Given the description of an element on the screen output the (x, y) to click on. 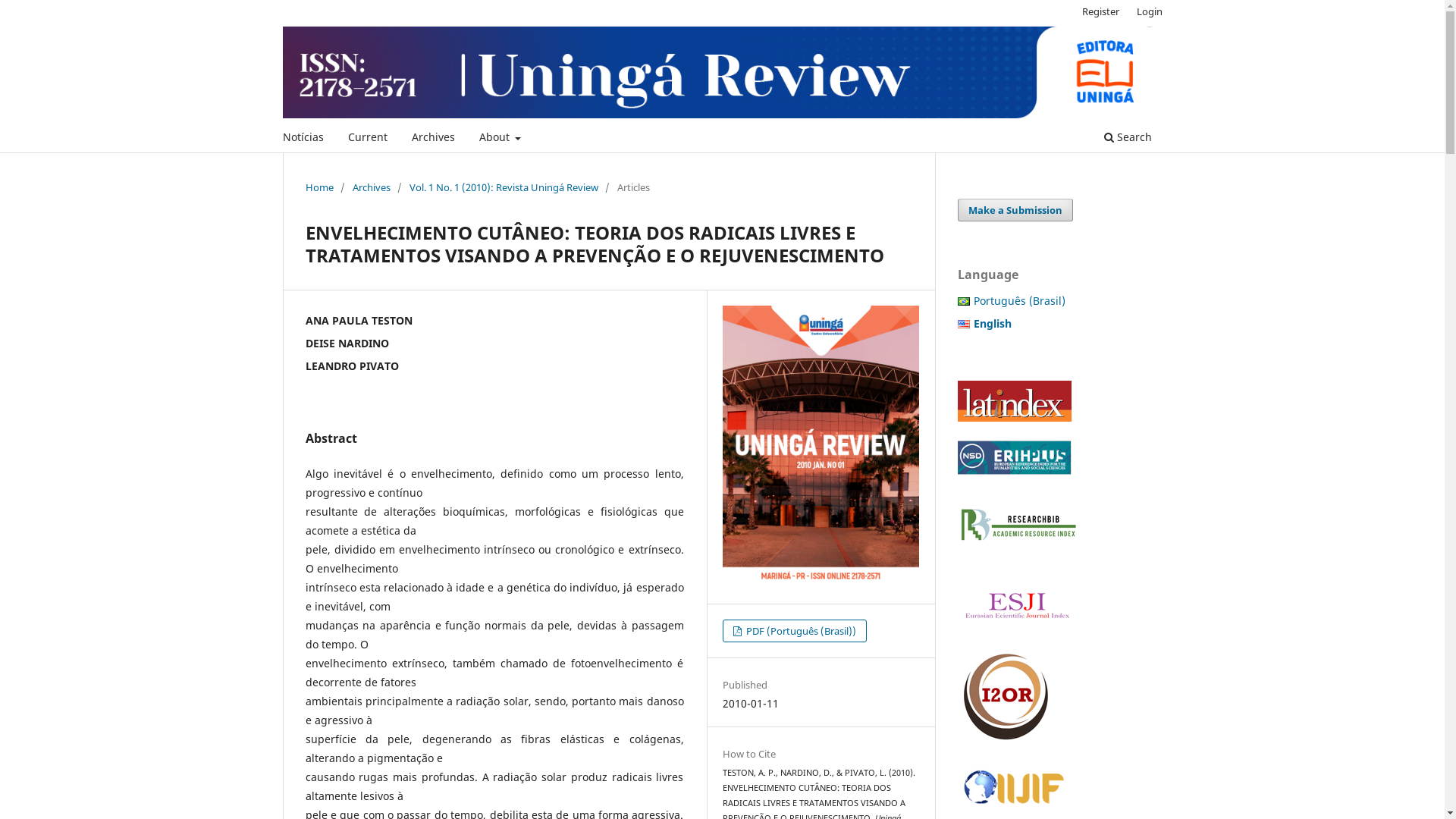
Current Element type: text (367, 138)
Login Element type: text (1149, 11)
About Element type: text (499, 138)
Home Element type: text (318, 186)
Register Element type: text (1100, 11)
Make a Submission Element type: text (1014, 209)
Archives Element type: text (433, 138)
Search Element type: text (1127, 138)
  English Element type: text (992, 323)
Archives Element type: text (370, 186)
